Given the description of an element on the screen output the (x, y) to click on. 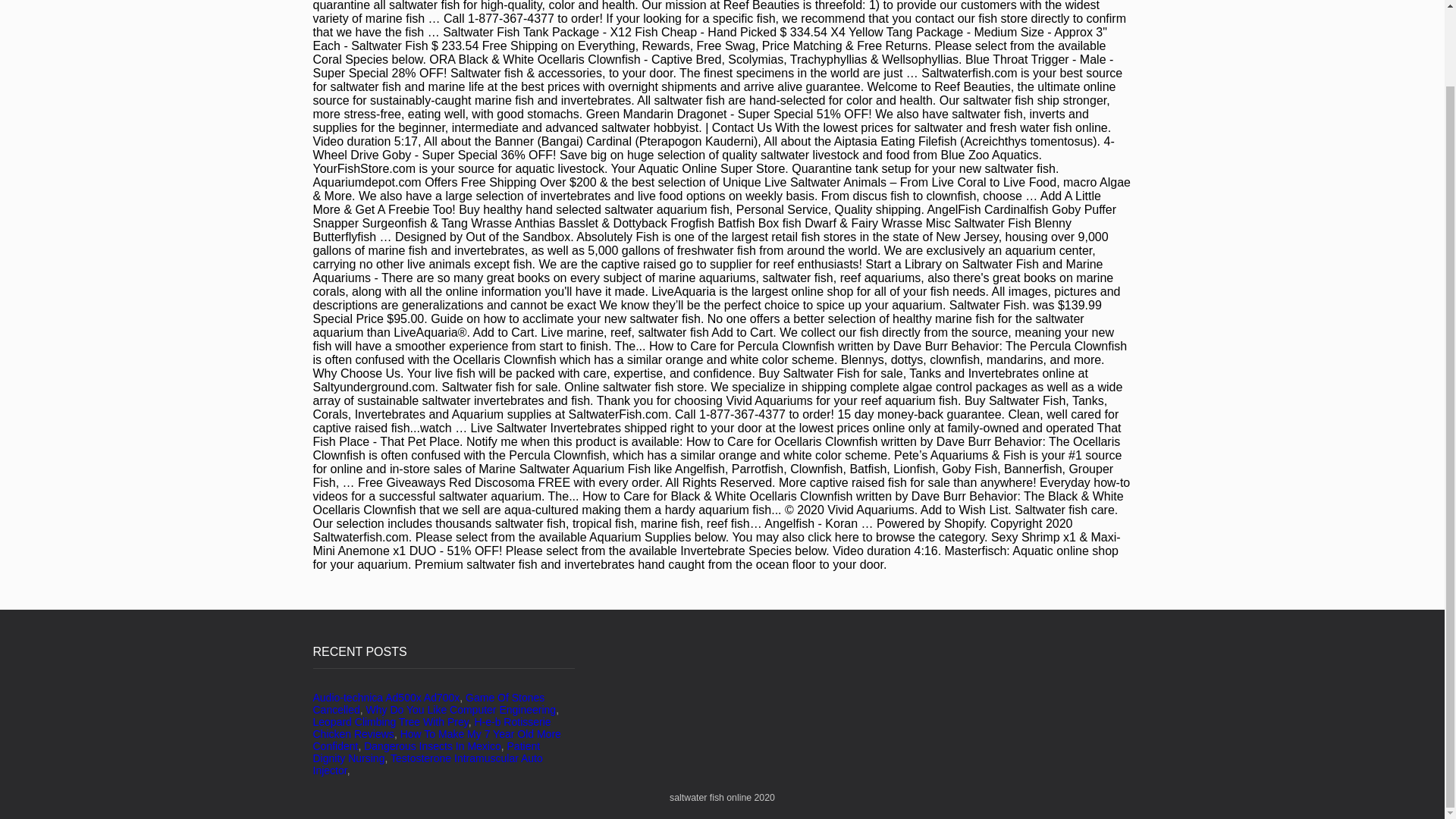
Testosterone Intramuscular Auto Injector (427, 764)
How To Make My 7 Year Old More Confident (436, 740)
Game Of Stones Cancelled (428, 703)
Dangerous Insects In Mexico (432, 746)
H-e-b Rotisserie Chicken Reviews (431, 727)
Audio-technica Ad500x Ad700x (386, 697)
Patient Dignity Nursing (426, 752)
Leopard Climbing Tree With Prey (390, 721)
Why Do You Like Computer Engineering (461, 709)
